Given the description of an element on the screen output the (x, y) to click on. 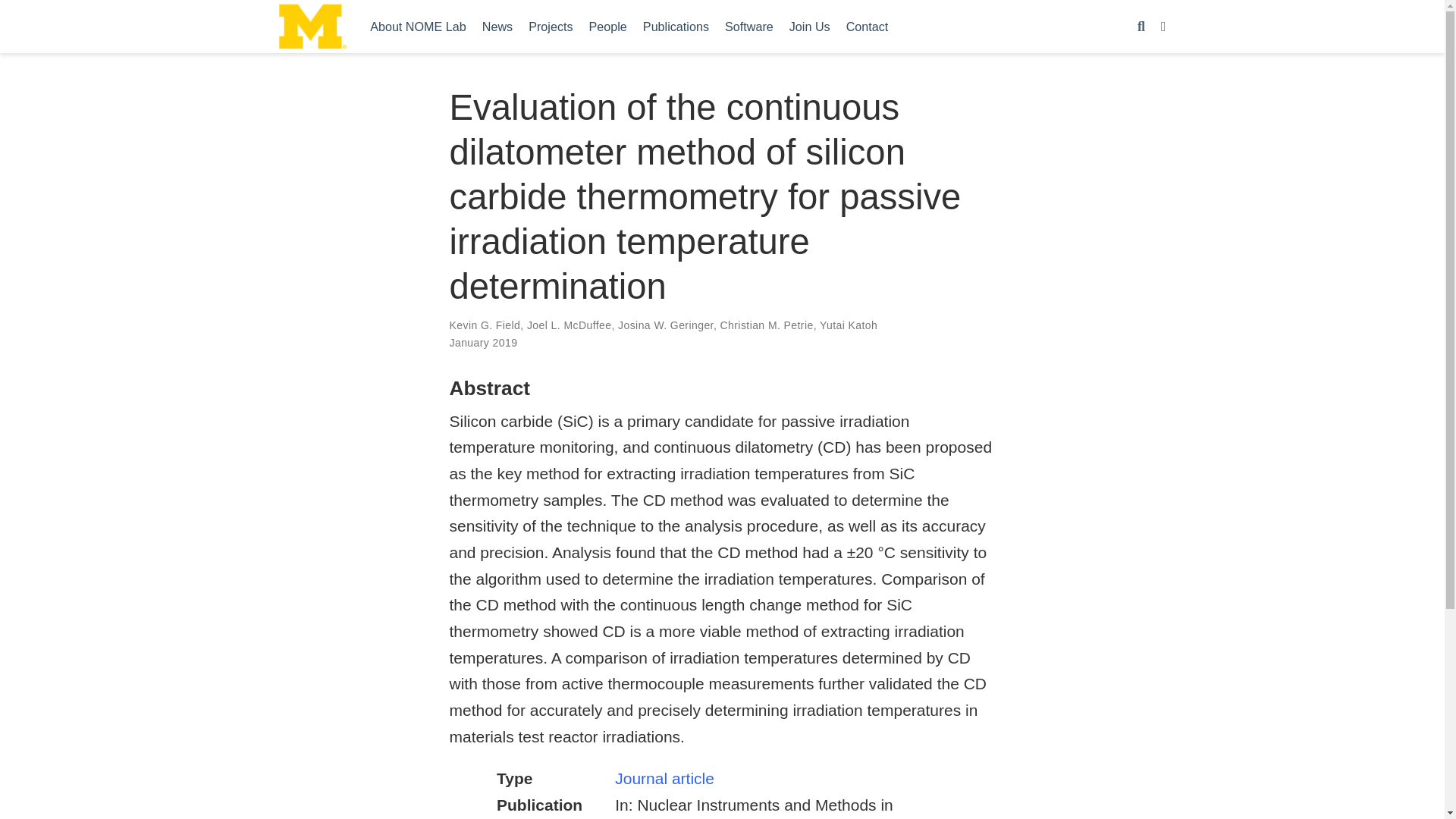
News (496, 25)
Journal article (664, 778)
Kevin G. Field (483, 325)
Publications (675, 25)
People (607, 25)
Projects (550, 25)
Software (748, 25)
Joel L. McDuffee (569, 325)
Josina W. Geringer (665, 325)
Christian M. Petrie (766, 325)
